Given the description of an element on the screen output the (x, y) to click on. 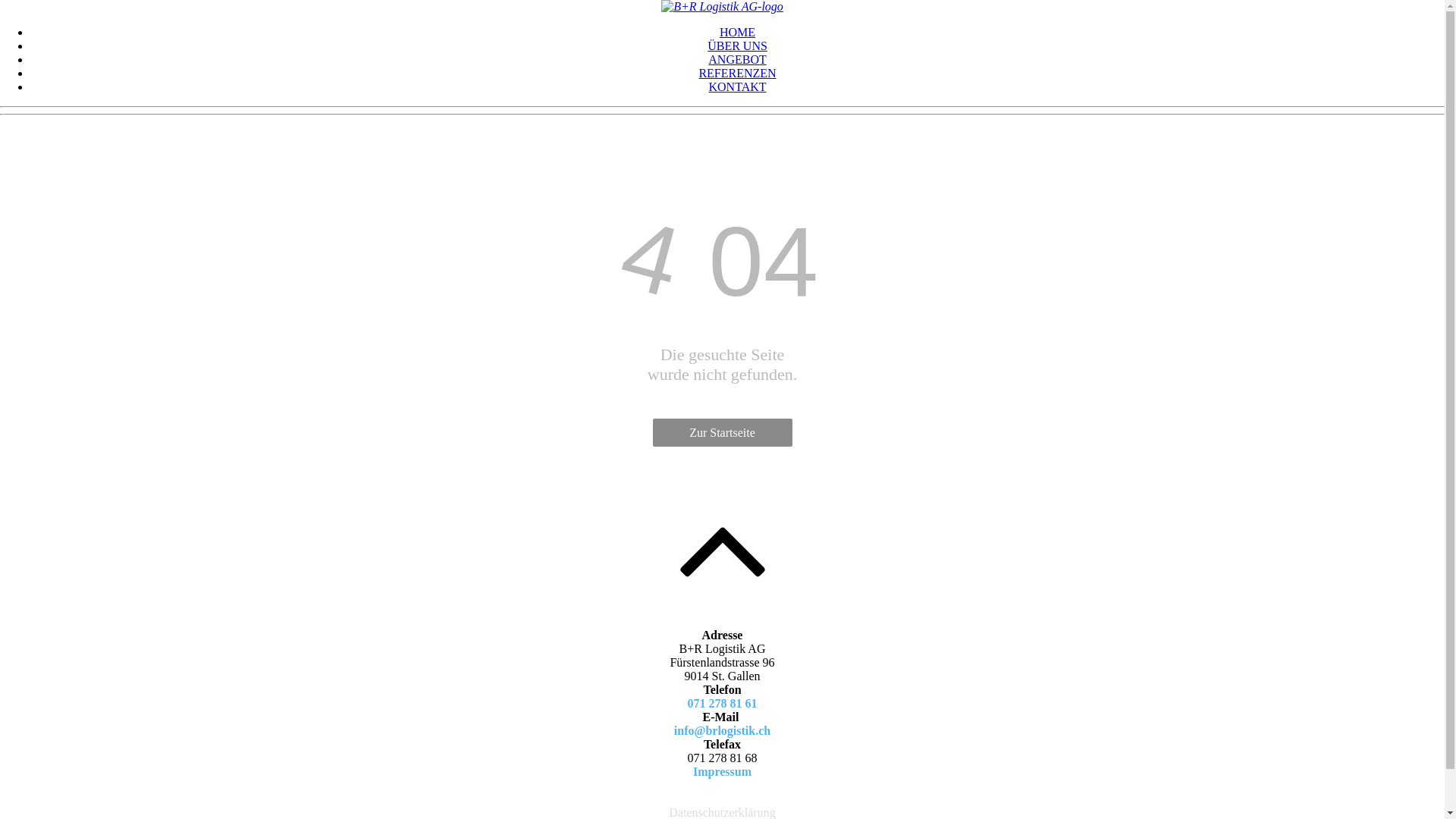
ANGEBOT Element type: text (736, 59)
info@brlogistik.ch Element type: text (722, 730)
HOME Element type: text (737, 31)
Zur Startseite Element type: text (721, 432)
Impressum Element type: text (722, 771)
KONTAKT Element type: text (736, 86)
071 278 81 61 Element type: text (721, 702)
REFERENZEN Element type: text (736, 72)
